Given the description of an element on the screen output the (x, y) to click on. 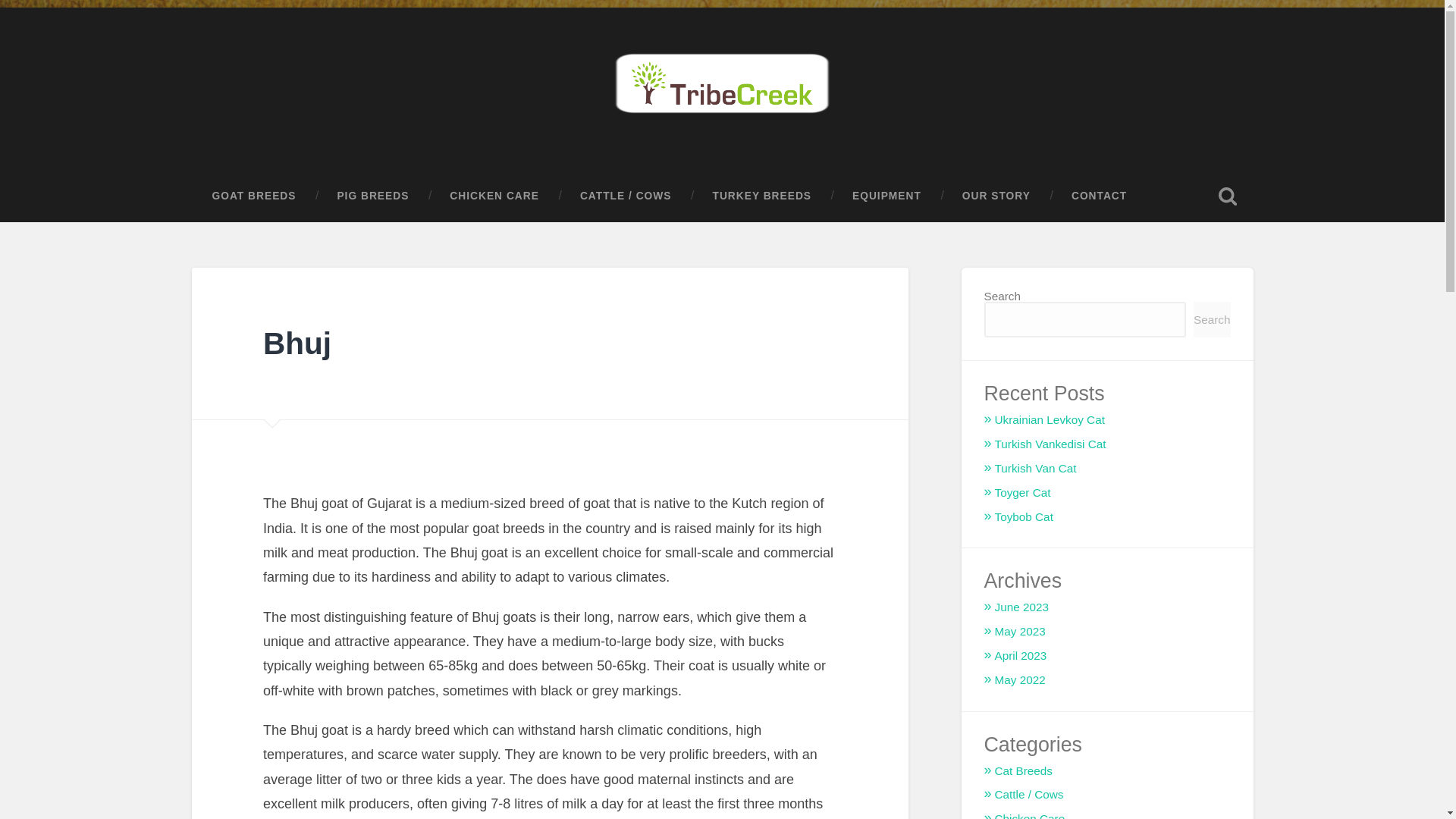
Toybob Cat (1023, 516)
Toyger Cat (1022, 492)
June 2023 (1021, 606)
PIG BREEDS (372, 195)
OUR STORY (996, 195)
Search (1211, 319)
TURKEY BREEDS (761, 195)
Turkish Van Cat (1035, 468)
Bhuj (297, 343)
CHICKEN CARE (494, 195)
